Given the description of an element on the screen output the (x, y) to click on. 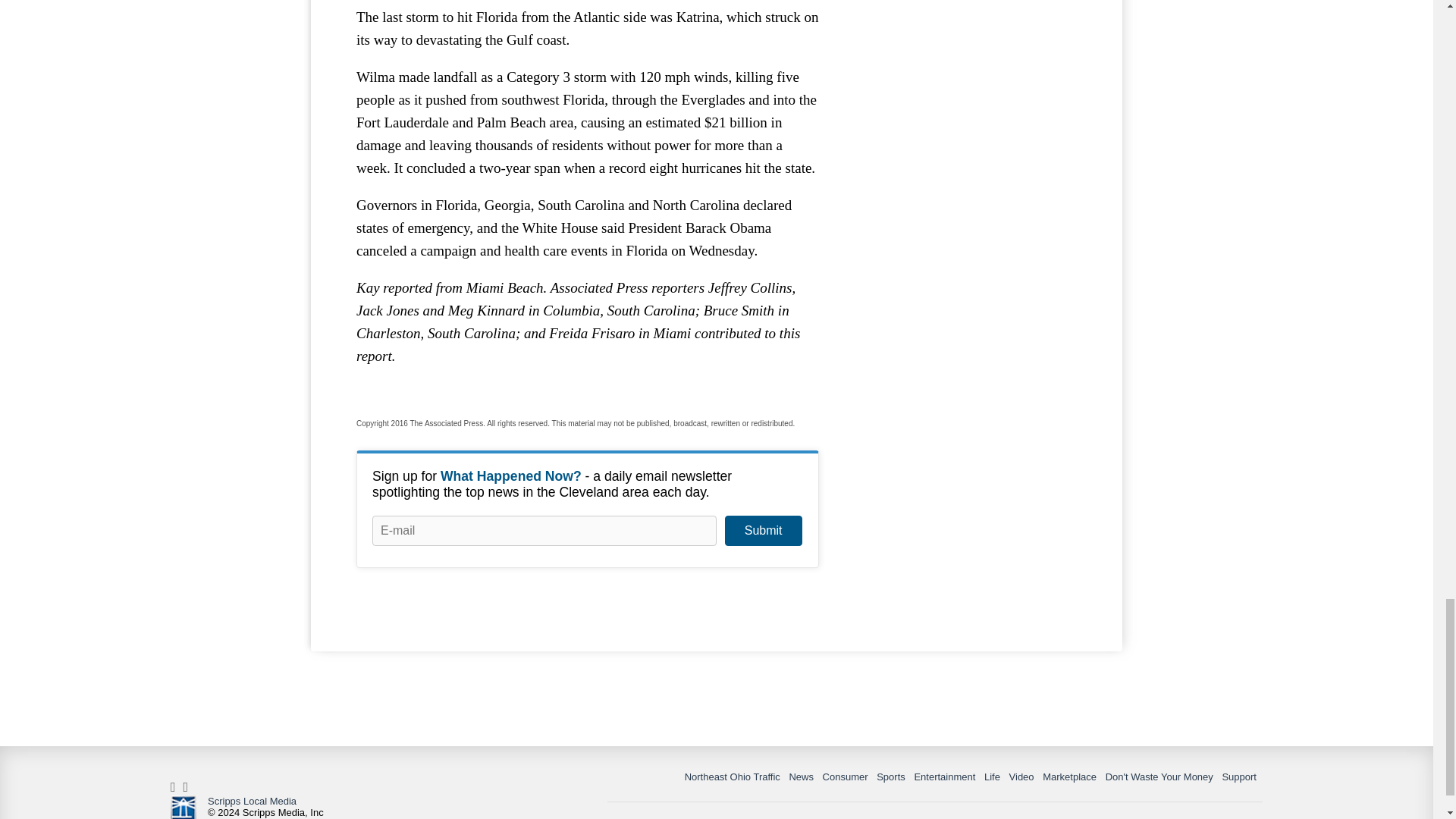
Submit (763, 530)
